Given the description of an element on the screen output the (x, y) to click on. 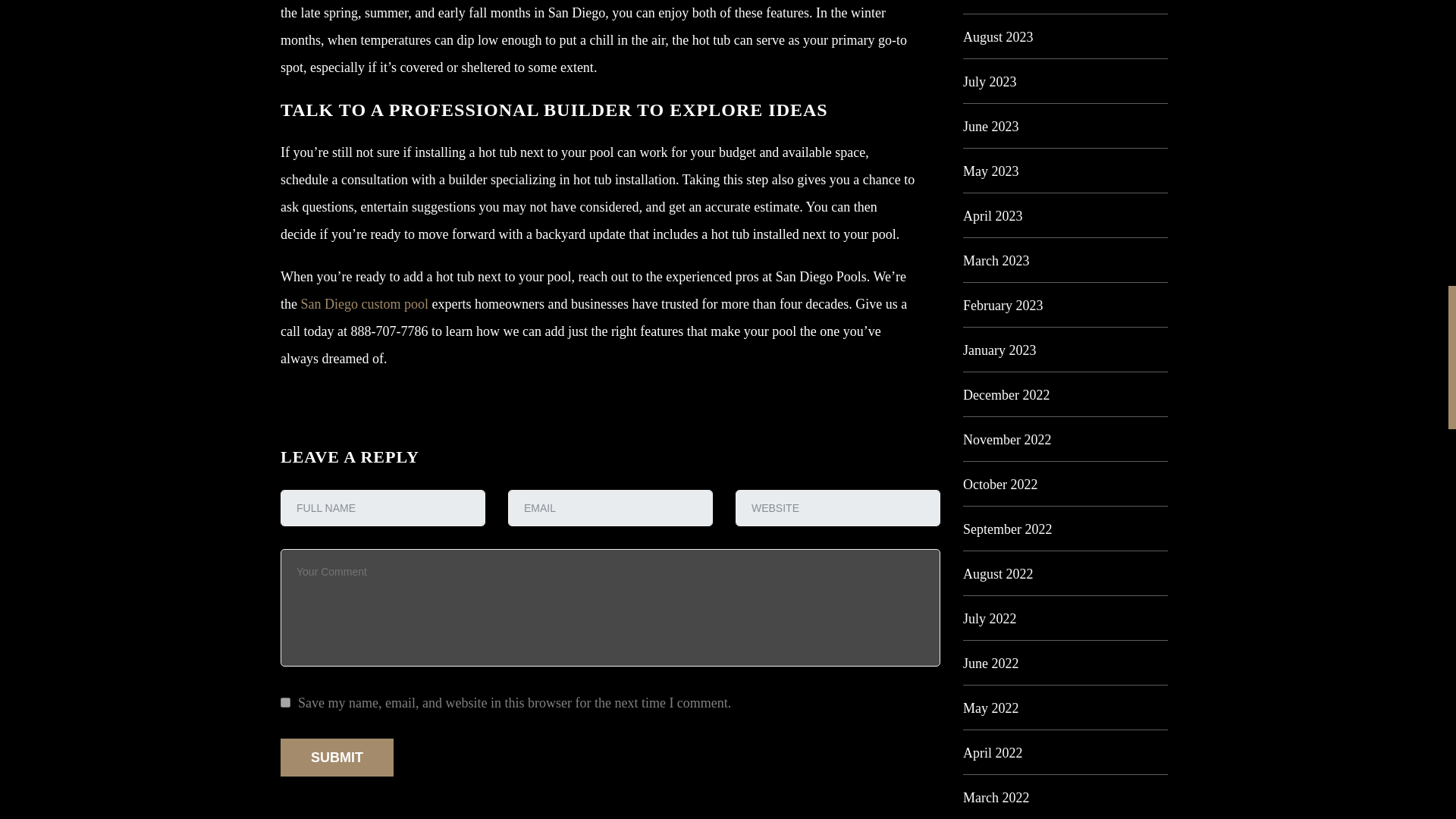
yes (285, 702)
SUBMIT (337, 757)
San Diego custom pool (363, 304)
